Given the description of an element on the screen output the (x, y) to click on. 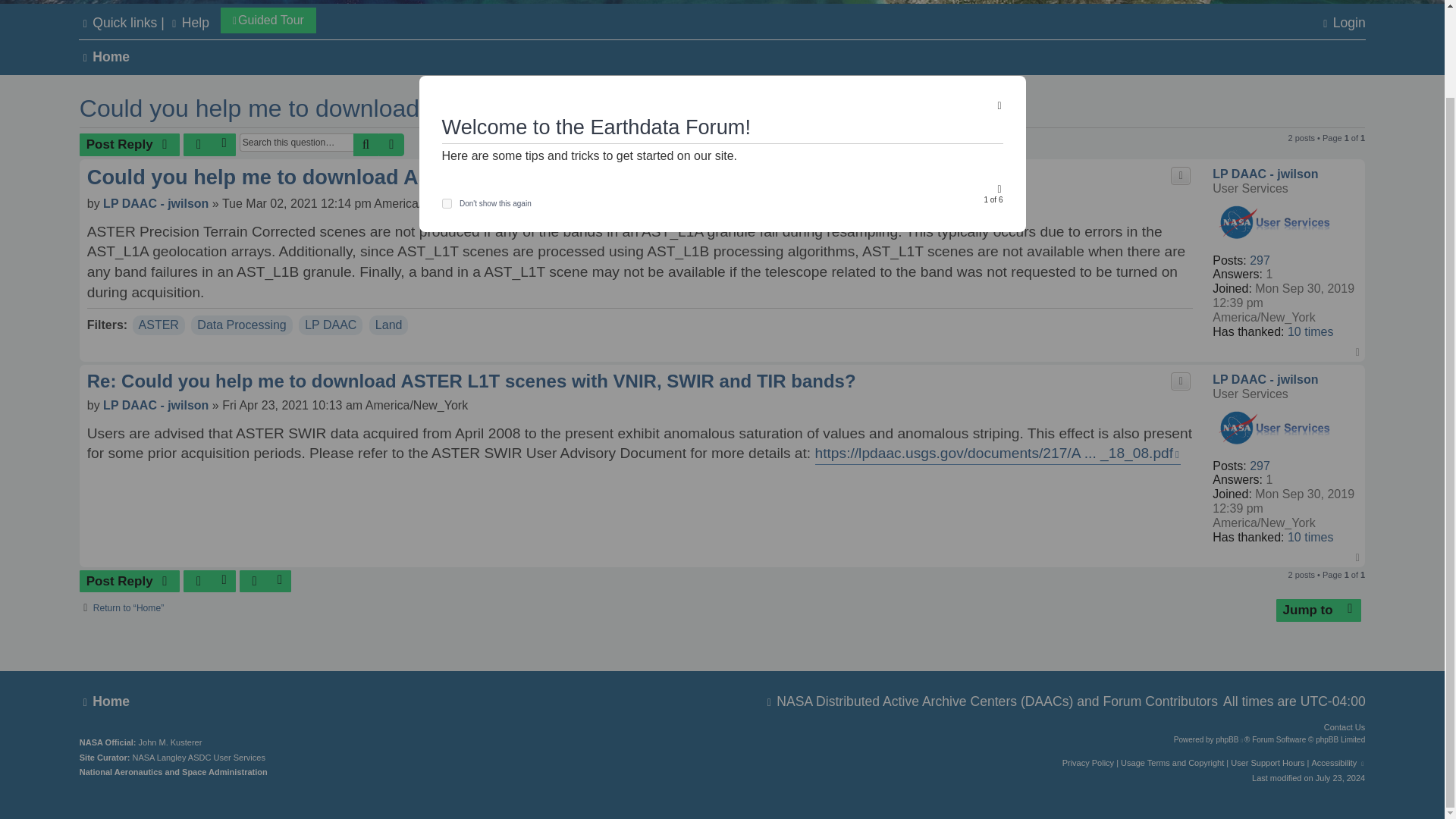
Home (103, 57)
Guided Tour (268, 20)
Quick links (117, 22)
Login (1342, 22)
1 (446, 103)
Help (188, 22)
